Given the description of an element on the screen output the (x, y) to click on. 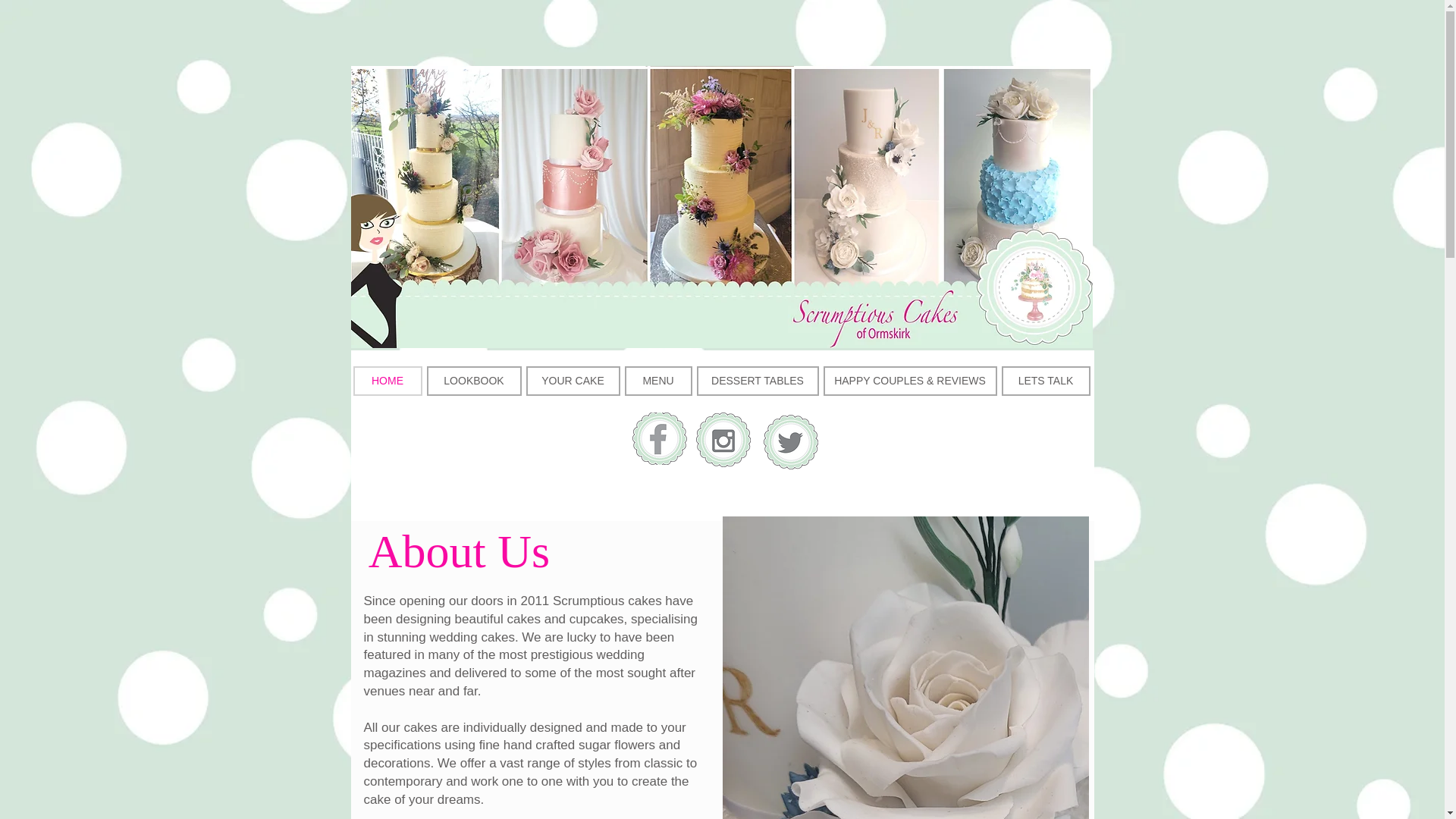
YOUR CAKE (572, 380)
DESSERT TABLES (756, 380)
LOOKBOOK (473, 380)
MENU (658, 380)
HOME (387, 380)
LETS TALK (1045, 380)
